Given the description of an element on the screen output the (x, y) to click on. 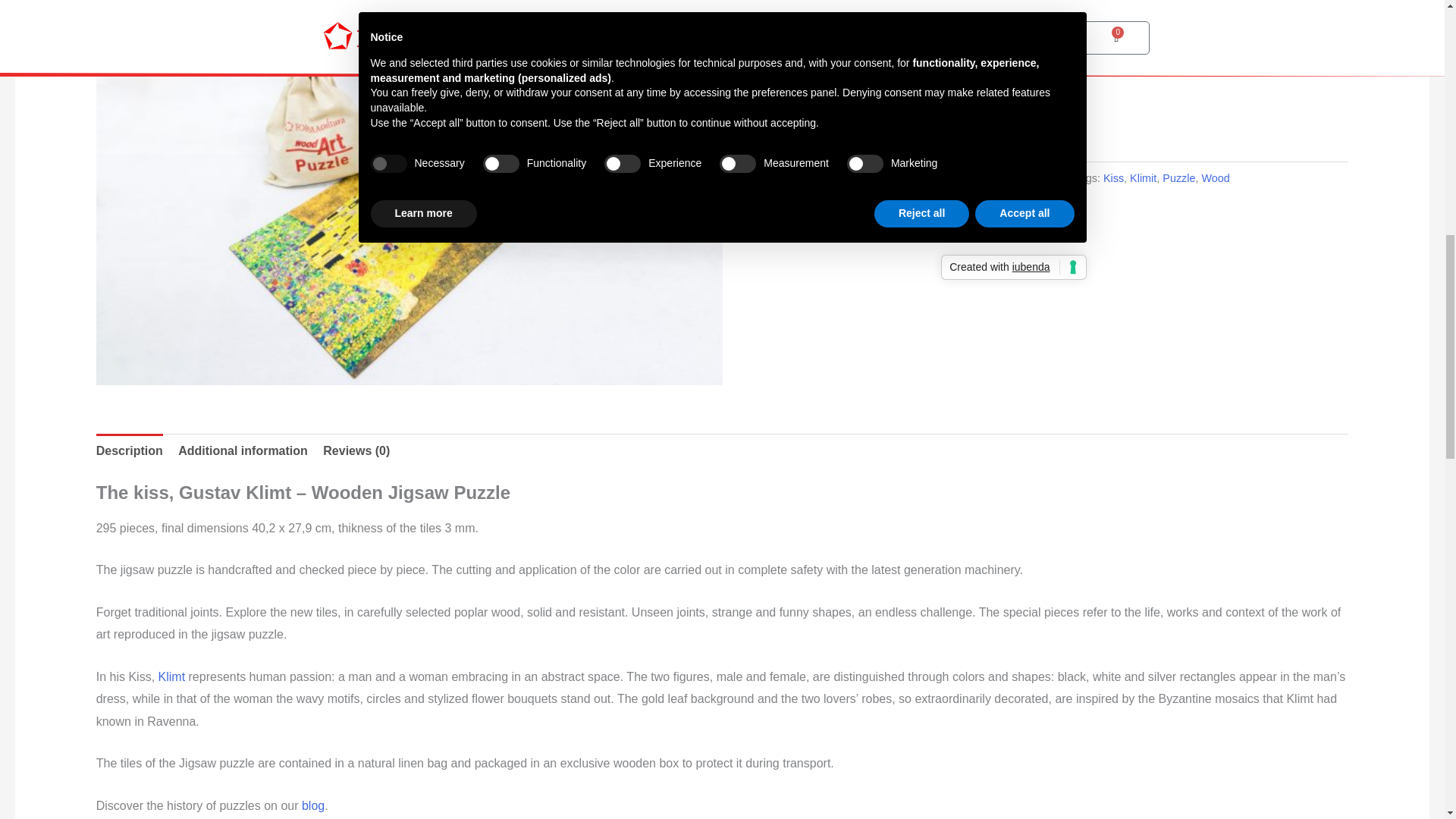
1 (794, 135)
